Given the description of an element on the screen output the (x, y) to click on. 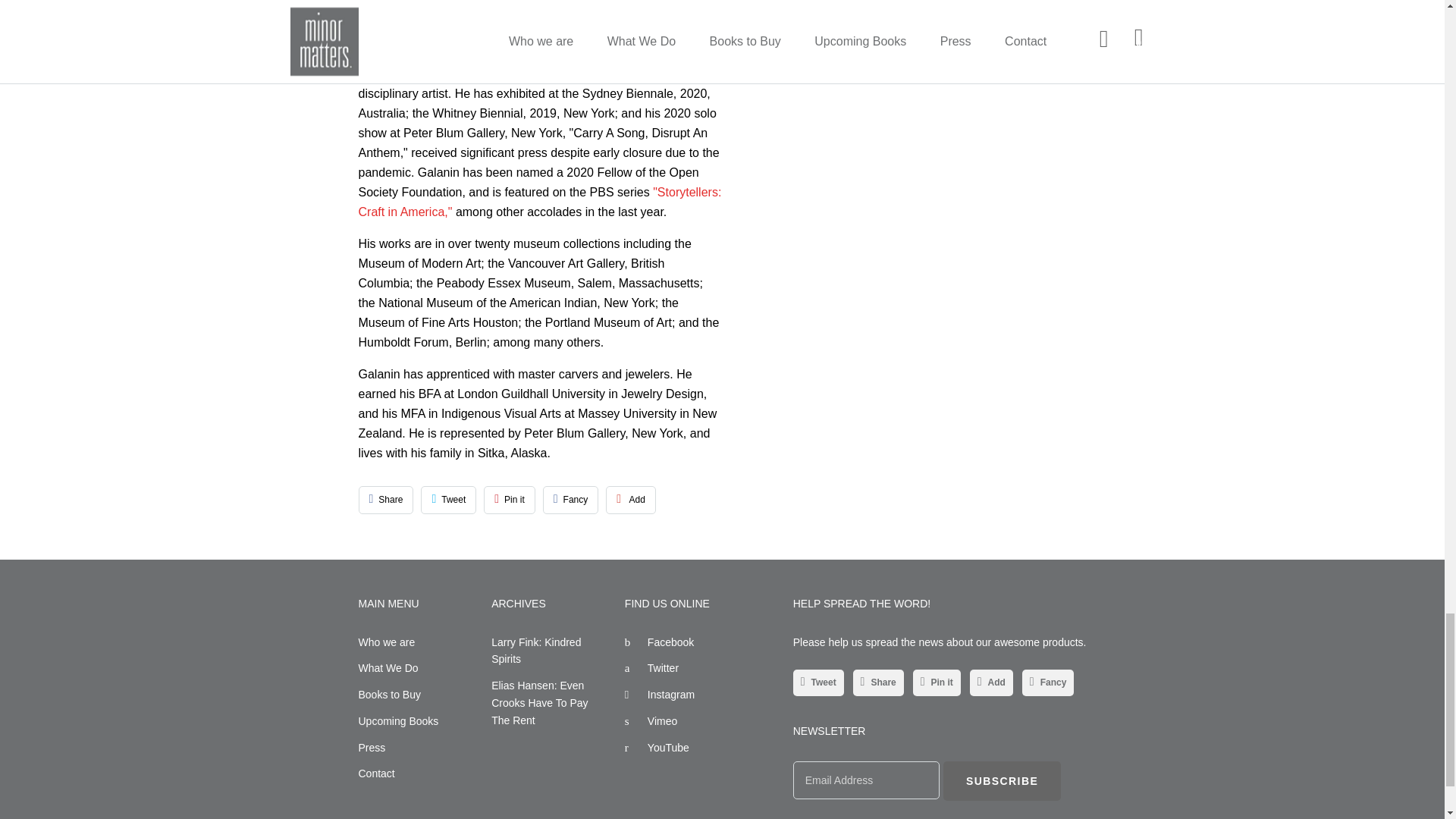
Add (630, 500)
Facebook (659, 641)
Larry Fink: Kindred Spirits (536, 650)
Upcoming Books (398, 720)
Books to Buy (389, 694)
"Storytellers: Craft in America," (539, 201)
Fancy (570, 500)
Pin it (509, 500)
Subscribe (1002, 780)
Share (385, 500)
Press (371, 747)
Elias Hansen: Even Crooks Have To Pay The Rent (540, 702)
Contact (376, 773)
Who we are (386, 641)
What We Do (387, 667)
